Given the description of an element on the screen output the (x, y) to click on. 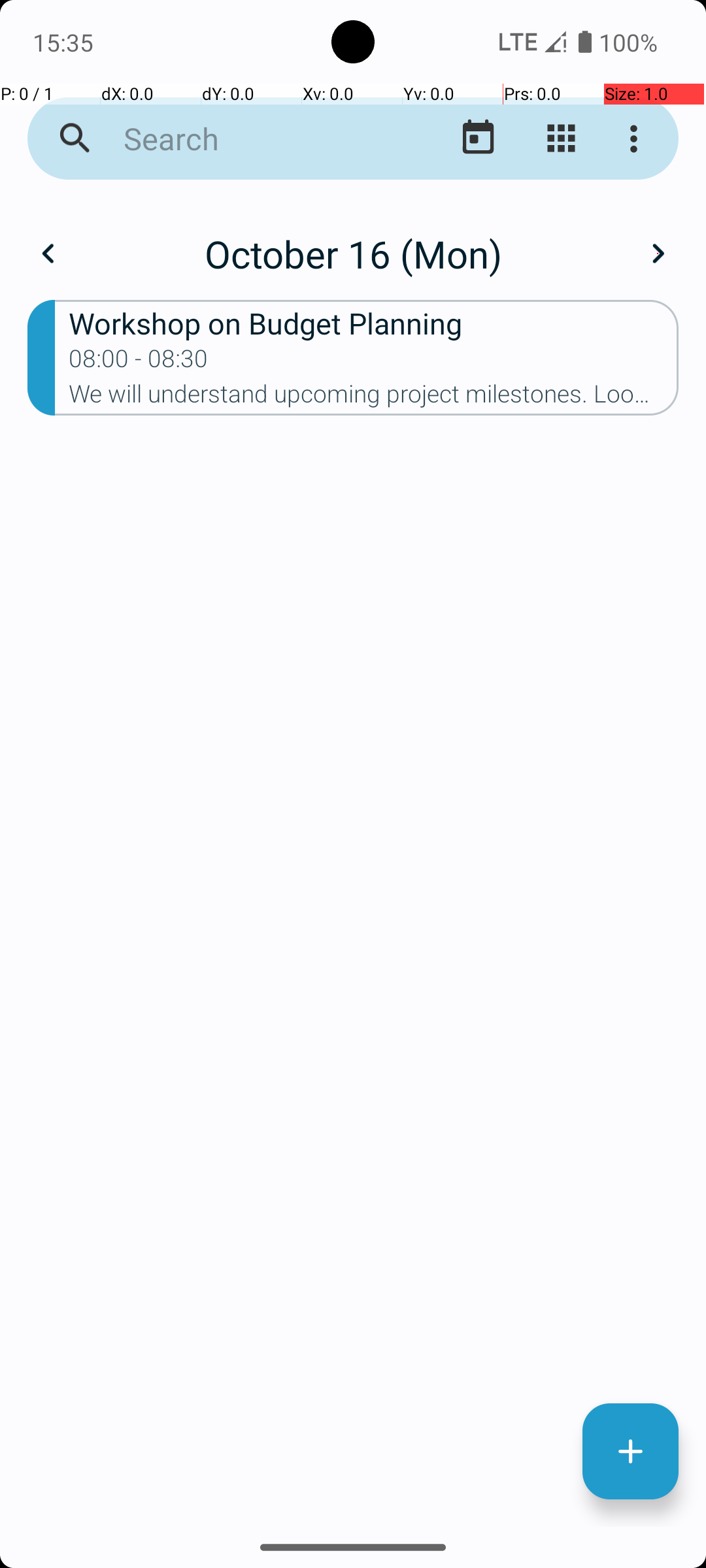
Workshop on Budget Planning Element type: android.widget.TextView (373, 321)
08:00 - 08:30 Element type: android.widget.TextView (137, 362)
We will understand upcoming project milestones. Looking forward to productive discussions. Element type: android.widget.TextView (373, 397)
